Given the description of an element on the screen output the (x, y) to click on. 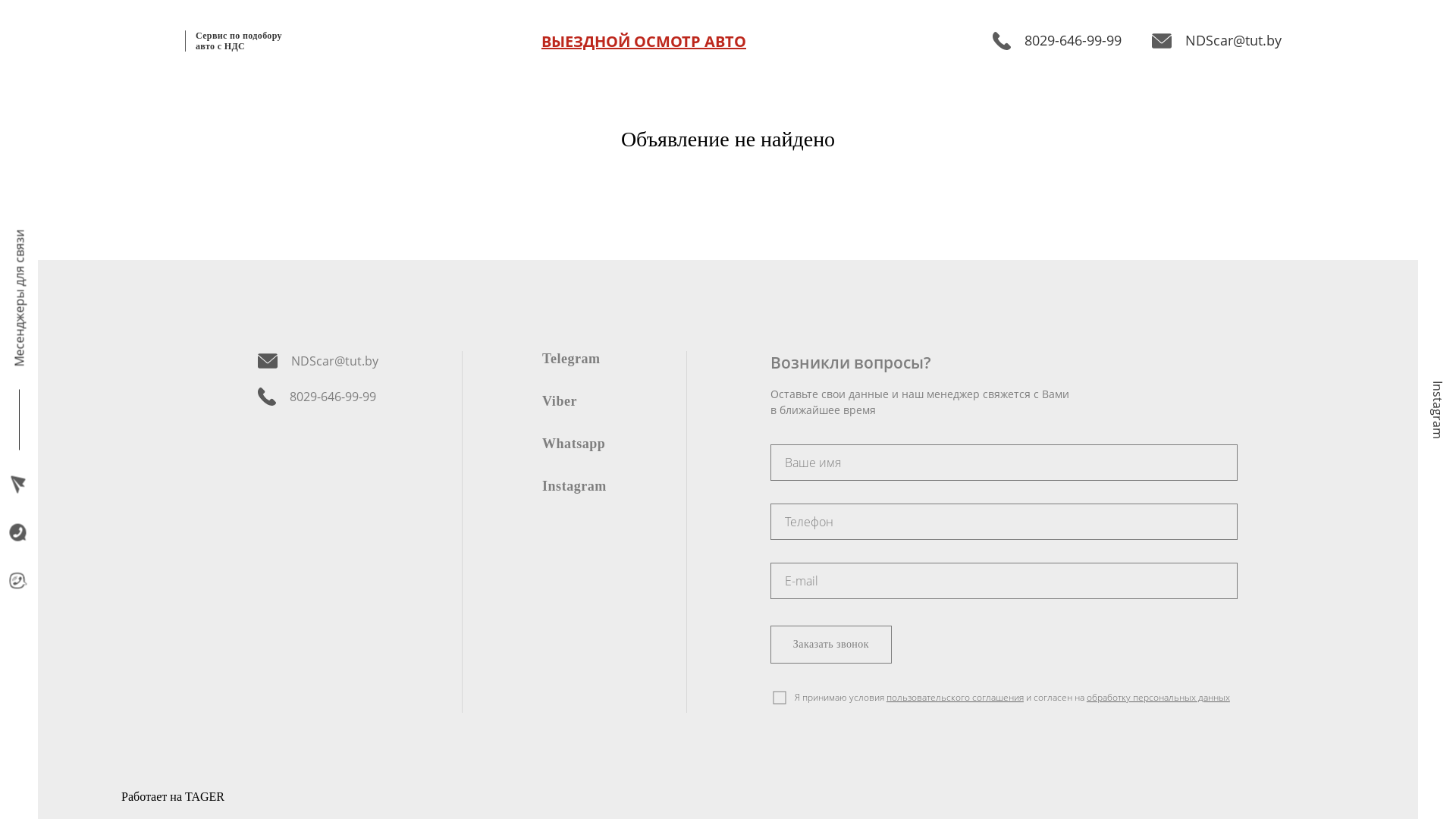
NDScar@tut.by Element type: text (1216, 40)
Viber Element type: text (559, 399)
8029-646-99-99 Element type: text (1056, 40)
Instagram Element type: text (574, 484)
NDScar@tut.by Element type: text (317, 360)
ndsCar Element type: hover (1003, 462)
Whatsapp Element type: text (573, 442)
ndsCar Element type: hover (1003, 580)
ndsCar Element type: hover (1003, 521)
Telegram Element type: text (571, 357)
8029-646-99-99 Element type: text (317, 396)
